Given the description of an element on the screen output the (x, y) to click on. 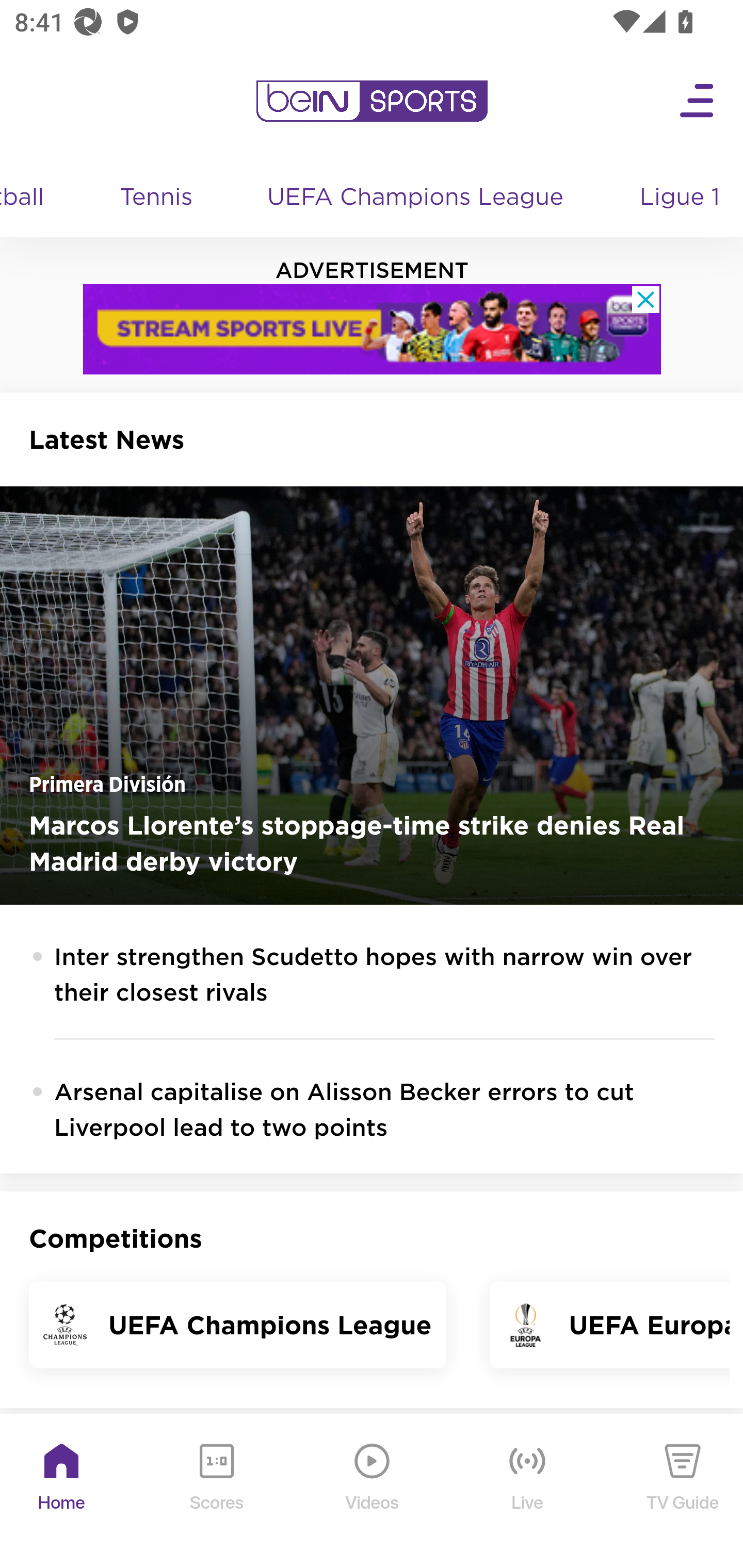
en-my?platform=mobile_android bein logo (371, 101)
Open Menu Icon (697, 101)
Tennis (157, 198)
UEFA Champions League (417, 198)
Ligue 1 (681, 198)
l8psv8uu (372, 328)
Home Home Icon Home (61, 1491)
Scores Scores Icon Scores (216, 1491)
Videos Videos Icon Videos (372, 1491)
TV Guide TV Guide Icon TV Guide (682, 1491)
